Given the description of an element on the screen output the (x, y) to click on. 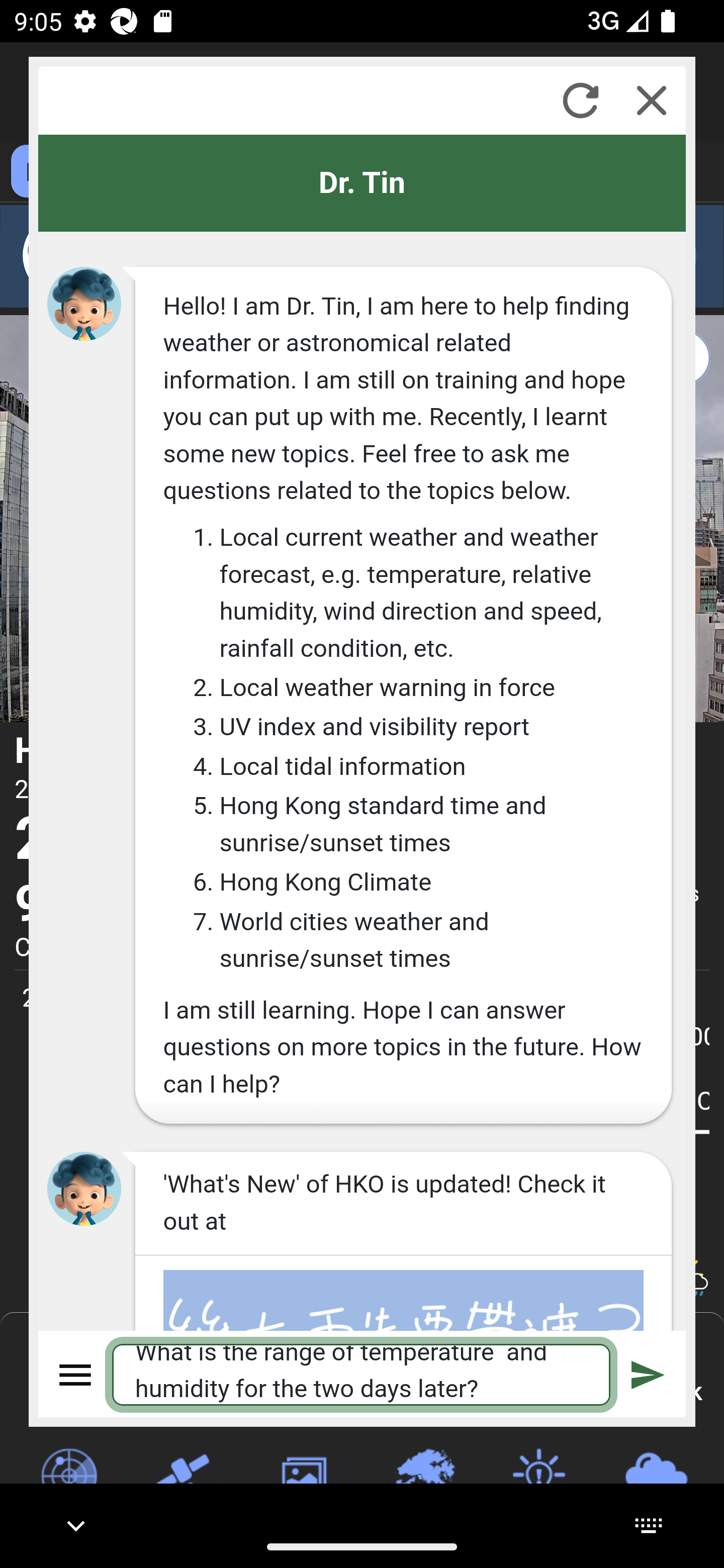
Refresh (580, 100)
Close (651, 100)
Menu (75, 1374)
Submit (648, 1374)
